Given the description of an element on the screen output the (x, y) to click on. 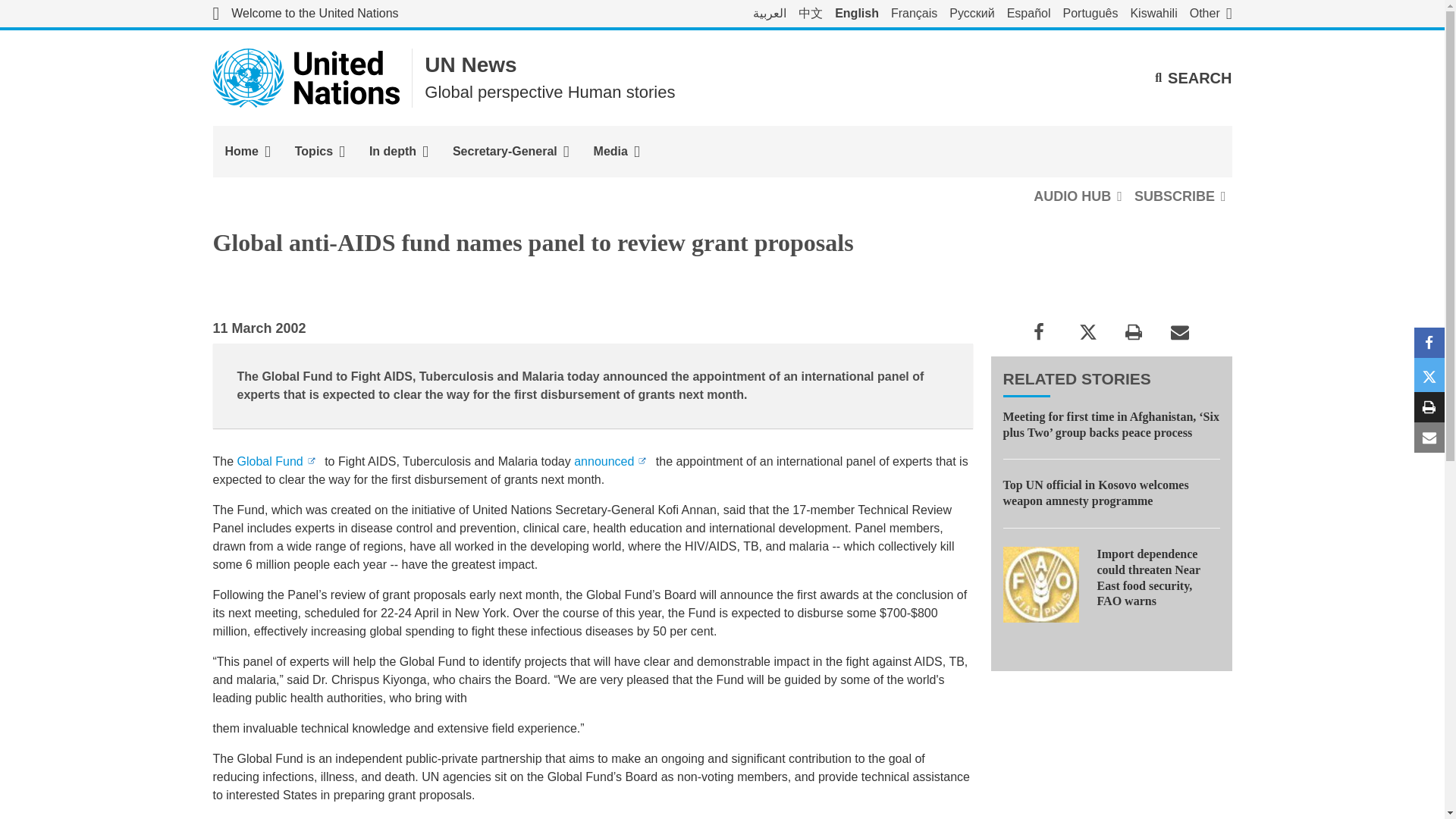
UN News (470, 64)
SEARCH (1192, 77)
United Nations (305, 76)
Home (247, 151)
Kiswahili (1152, 13)
Welcome to the United Nations (304, 13)
English (856, 13)
UN News (470, 64)
Topics (319, 151)
United Nations (304, 13)
Other (1210, 13)
Home (247, 151)
